Given the description of an element on the screen output the (x, y) to click on. 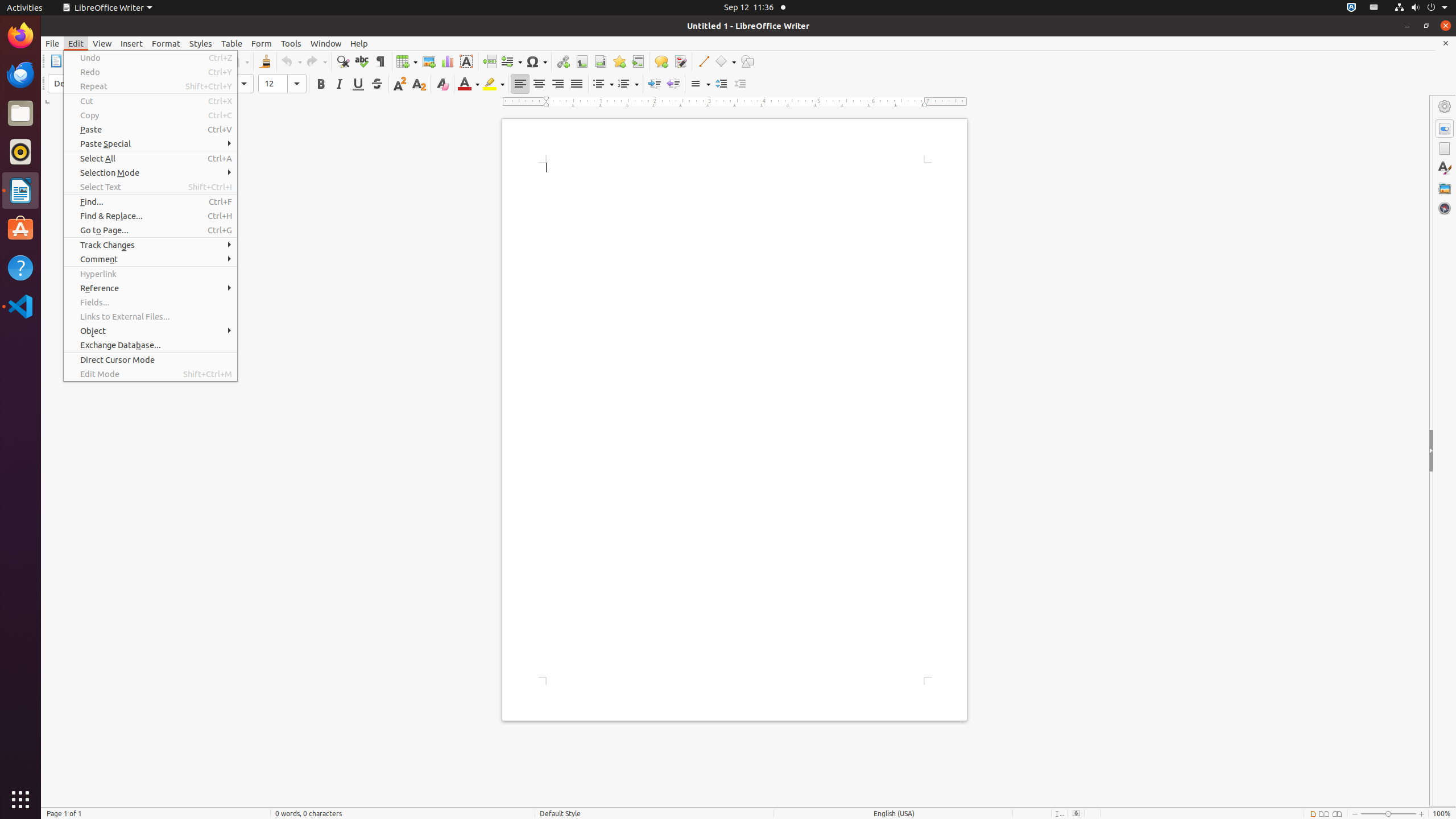
Edit Element type: menu (75, 43)
Repeat Element type: menu-item (150, 86)
Styles Element type: radio-button (1444, 168)
Navigator Element type: radio-button (1444, 208)
Redo Element type: menu-item (150, 71)
